Given the description of an element on the screen output the (x, y) to click on. 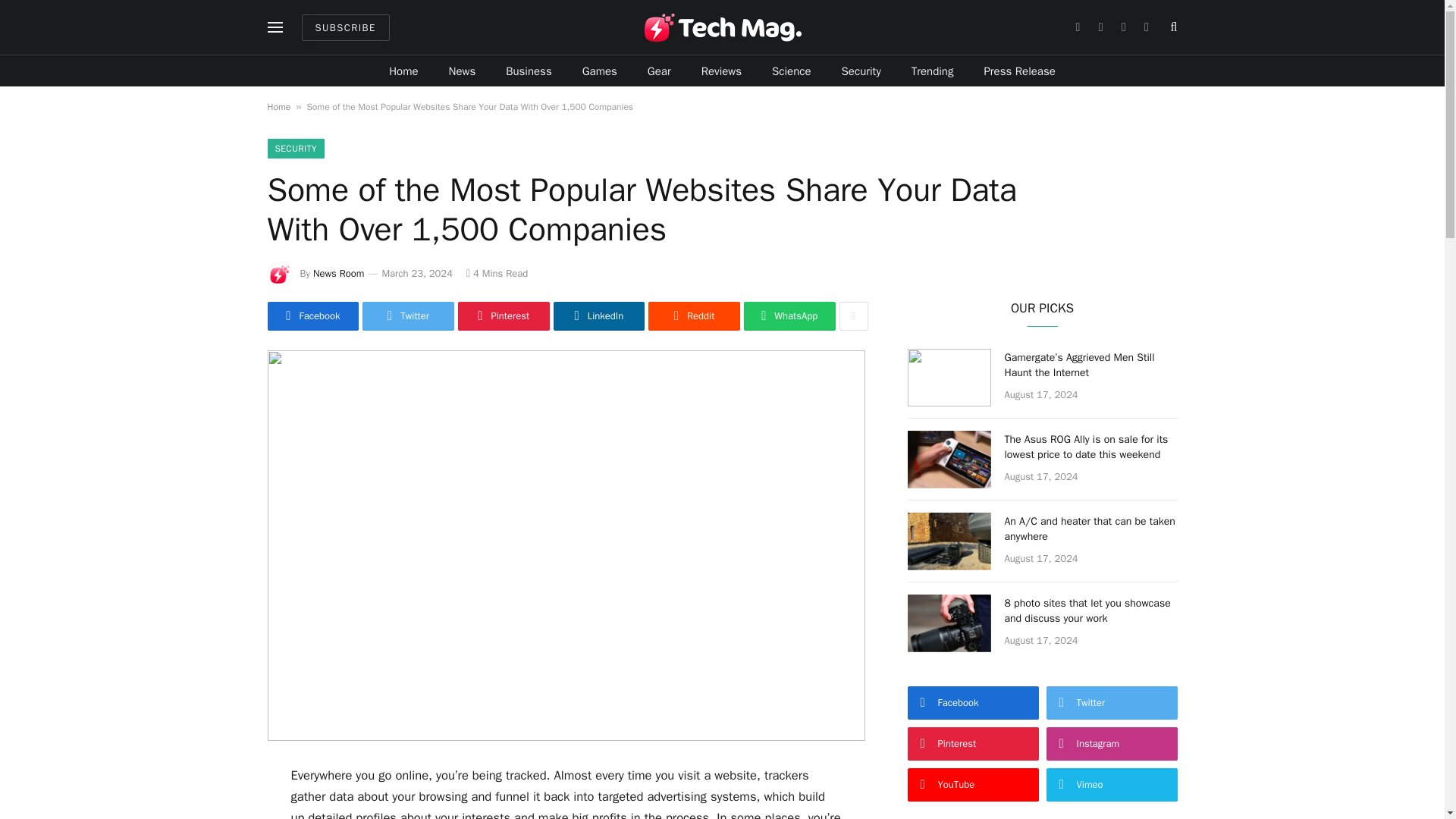
Home (403, 70)
Business (528, 70)
Share on Pinterest (504, 316)
SUBSCRIBE (345, 26)
Share on LinkedIn (599, 316)
Gear (658, 70)
News (462, 70)
Reviews (721, 70)
Security (861, 70)
Technology Mag (722, 27)
